Given the description of an element on the screen output the (x, y) to click on. 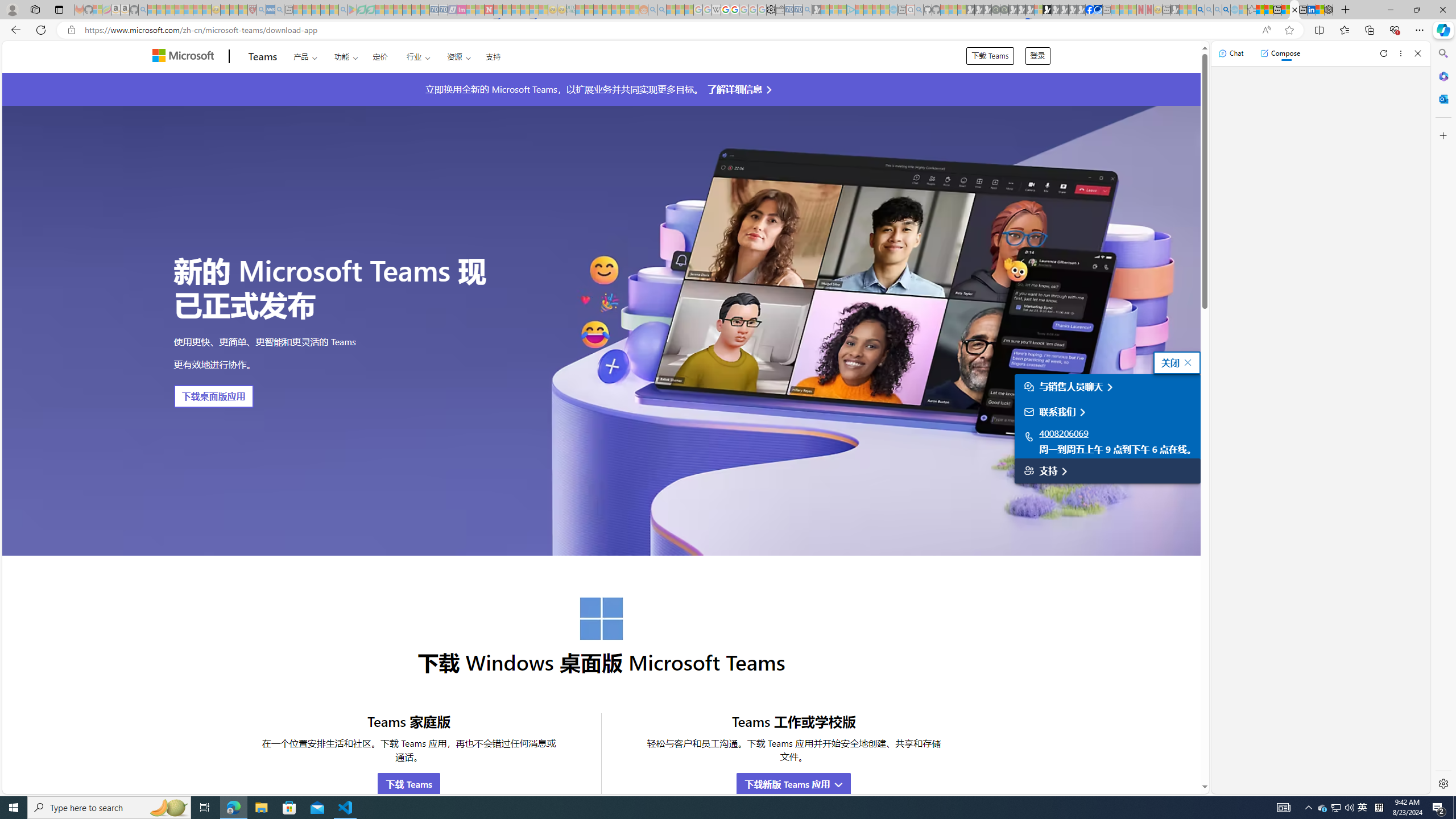
Nordace - Summer Adventures 2024 (1328, 9)
New tab - Sleeping (1165, 9)
github - Search - Sleeping (919, 9)
14 Common Myths Debunked By Scientific Facts - Sleeping (506, 9)
Chat (1230, 52)
Robert H. Shmerling, MD - Harvard Health - Sleeping (252, 9)
Microsoft Start Gaming - Sleeping (815, 9)
